Given the description of an element on the screen output the (x, y) to click on. 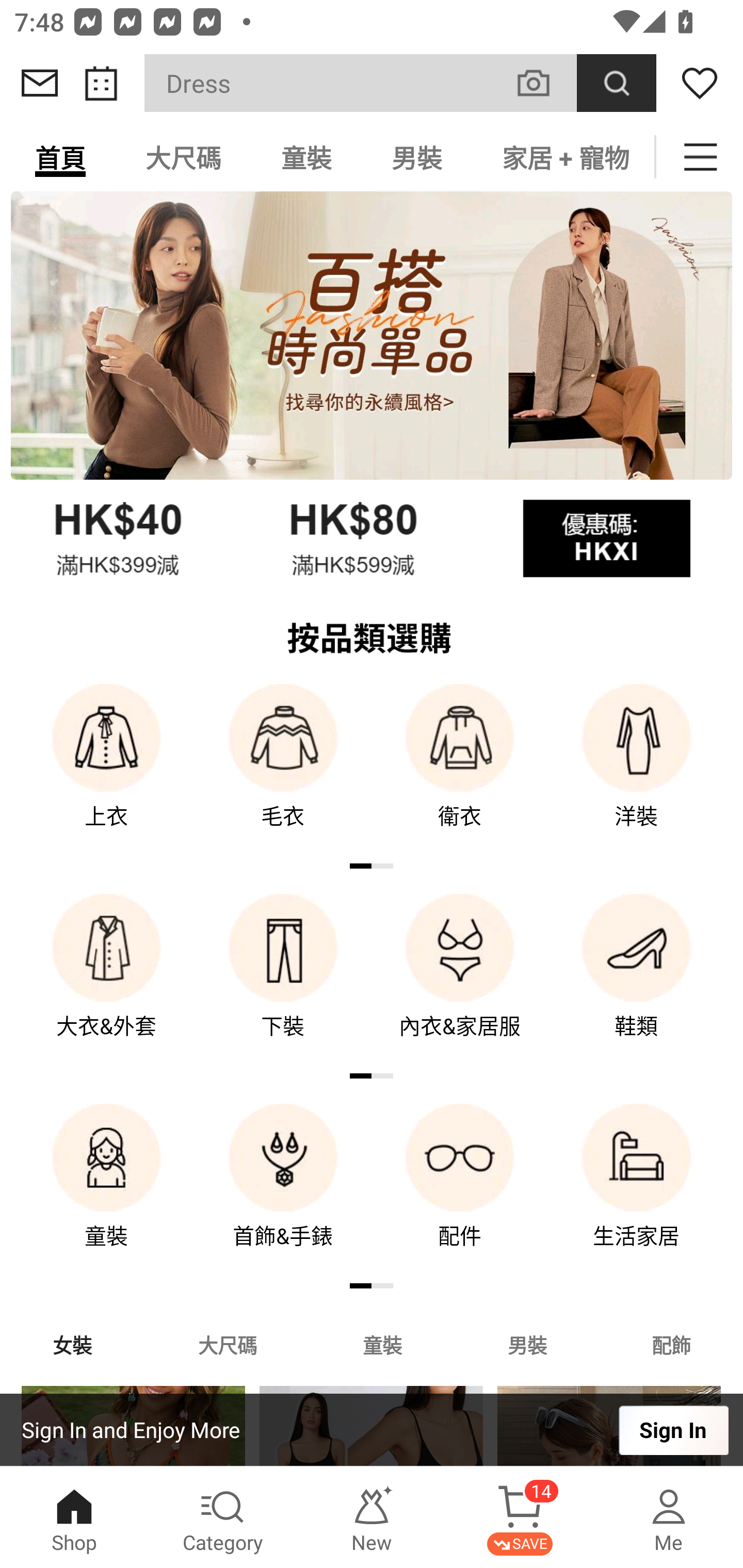
Wishlist (699, 82)
VISUAL SEARCH (543, 82)
首頁 (60, 156)
大尺碼 (183, 156)
童裝 (306, 156)
男裝 (416, 156)
家居 + 寵物 (563, 156)
上衣 (105, 769)
毛衣 (282, 769)
衛衣 (459, 769)
洋裝 (636, 769)
大衣&外套 (105, 979)
下裝 (282, 979)
內衣&家居服 (459, 979)
鞋類 (636, 979)
童裝 (105, 1189)
首飾&手錶 (282, 1189)
配件 (459, 1189)
生活家居 (636, 1189)
女裝 (72, 1344)
大尺碼 (226, 1344)
童裝 (381, 1344)
男裝 (527, 1344)
配飾 (671, 1344)
Sign In and Enjoy More Sign In (371, 1429)
Category (222, 1517)
New (371, 1517)
Cart 14 SAVE (519, 1517)
Me (668, 1517)
